Given the description of an element on the screen output the (x, y) to click on. 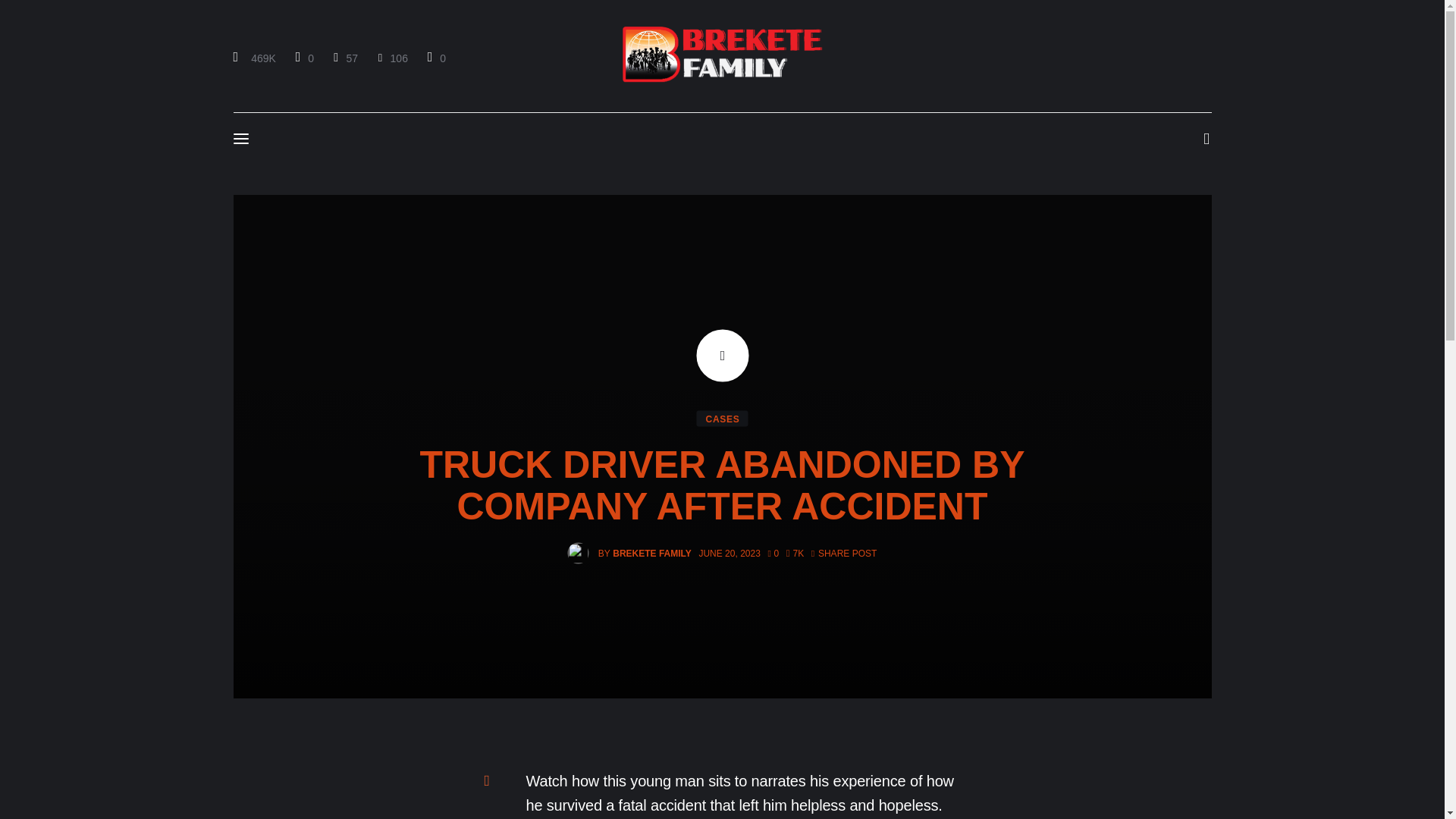
57 (345, 58)
0 (435, 58)
0 (303, 58)
106 (392, 58)
469K (256, 58)
